Given the description of an element on the screen output the (x, y) to click on. 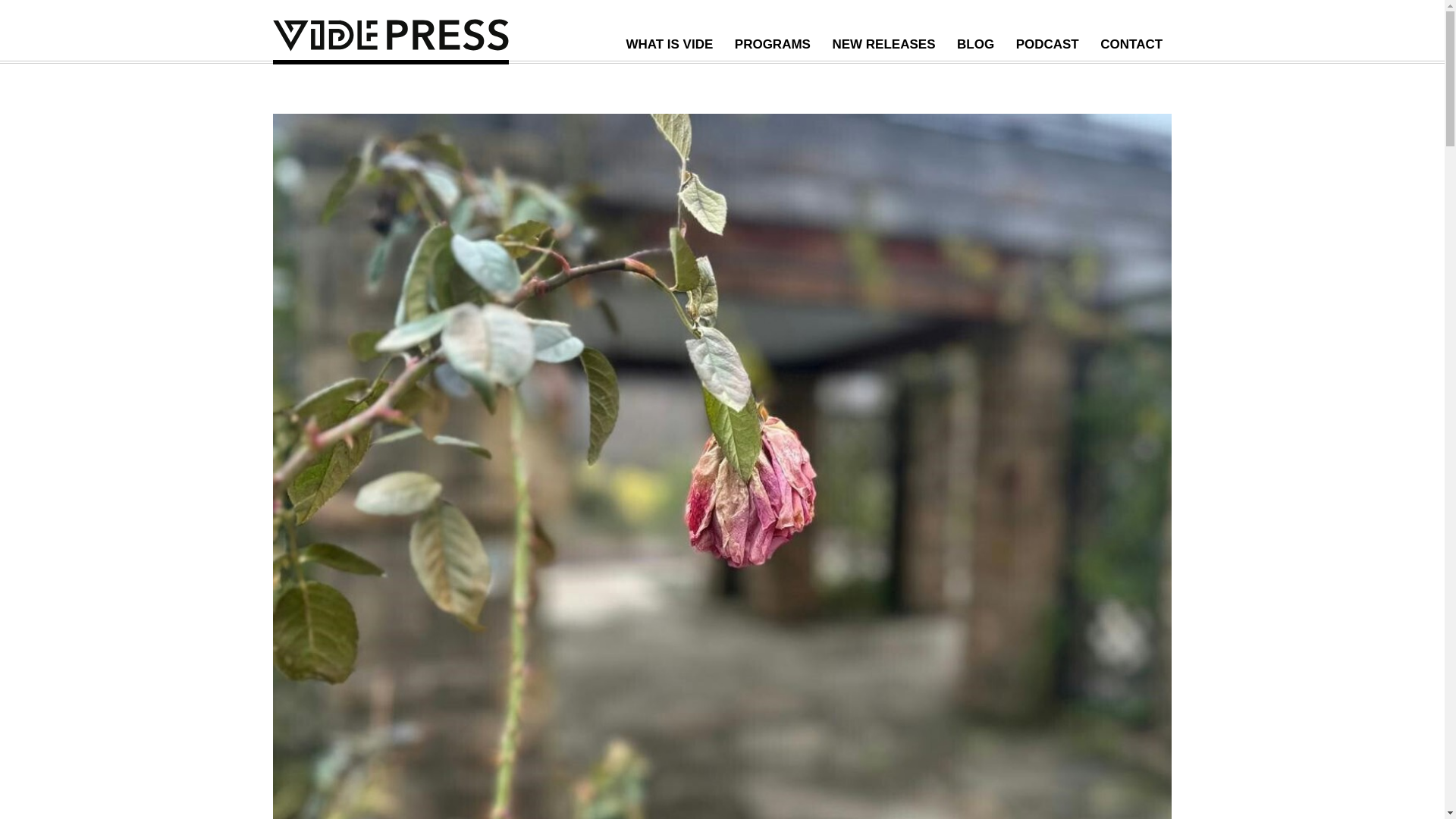
WHAT IS VIDE (668, 43)
NEW RELEASES (884, 43)
CONTACT (1131, 43)
PROGRAMS (772, 43)
PODCAST (1047, 43)
BLOG (975, 43)
